Given the description of an element on the screen output the (x, y) to click on. 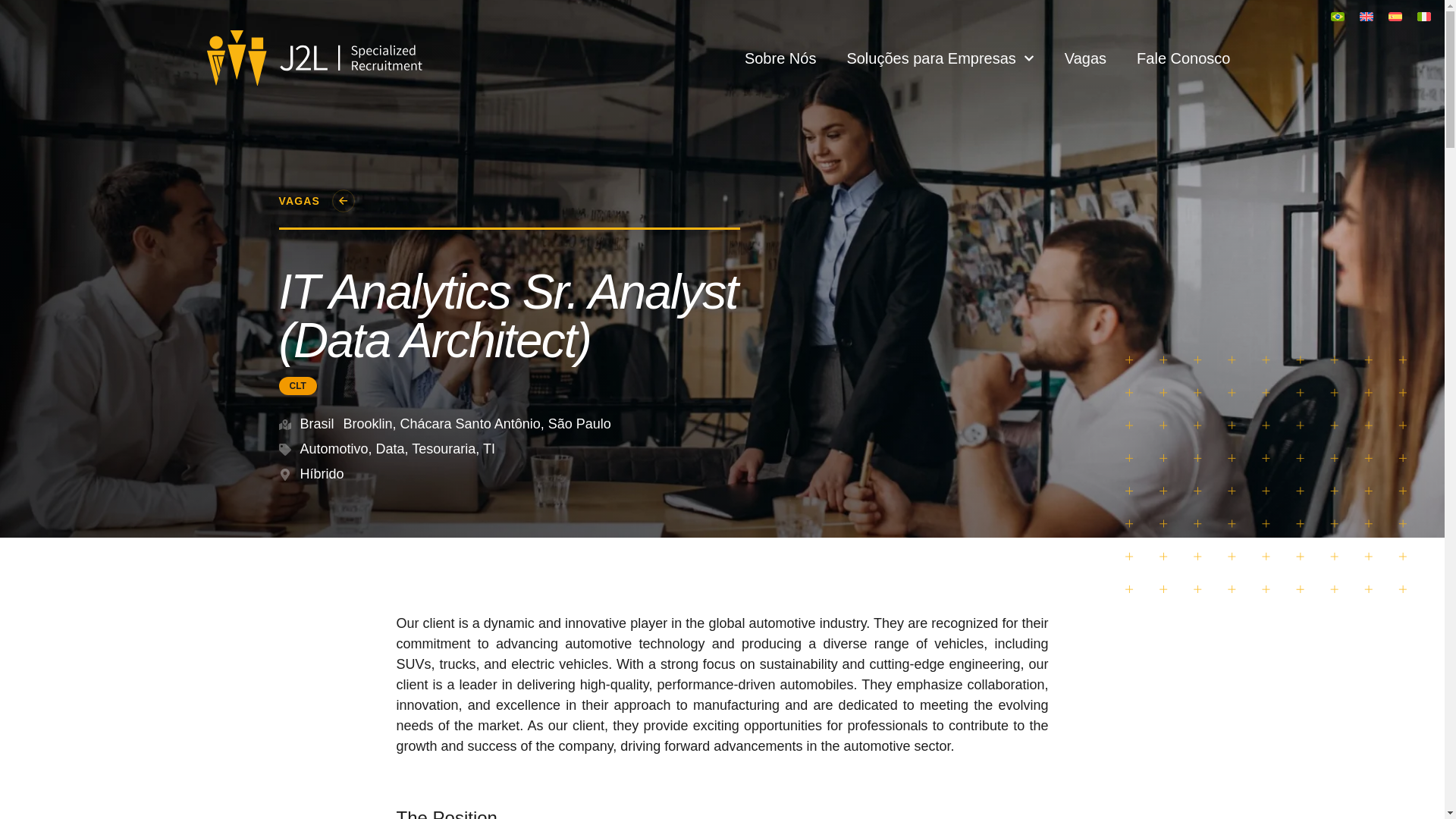
Fale Conosco (1183, 57)
Vagas (1085, 57)
VAGAS (299, 200)
